Given the description of an element on the screen output the (x, y) to click on. 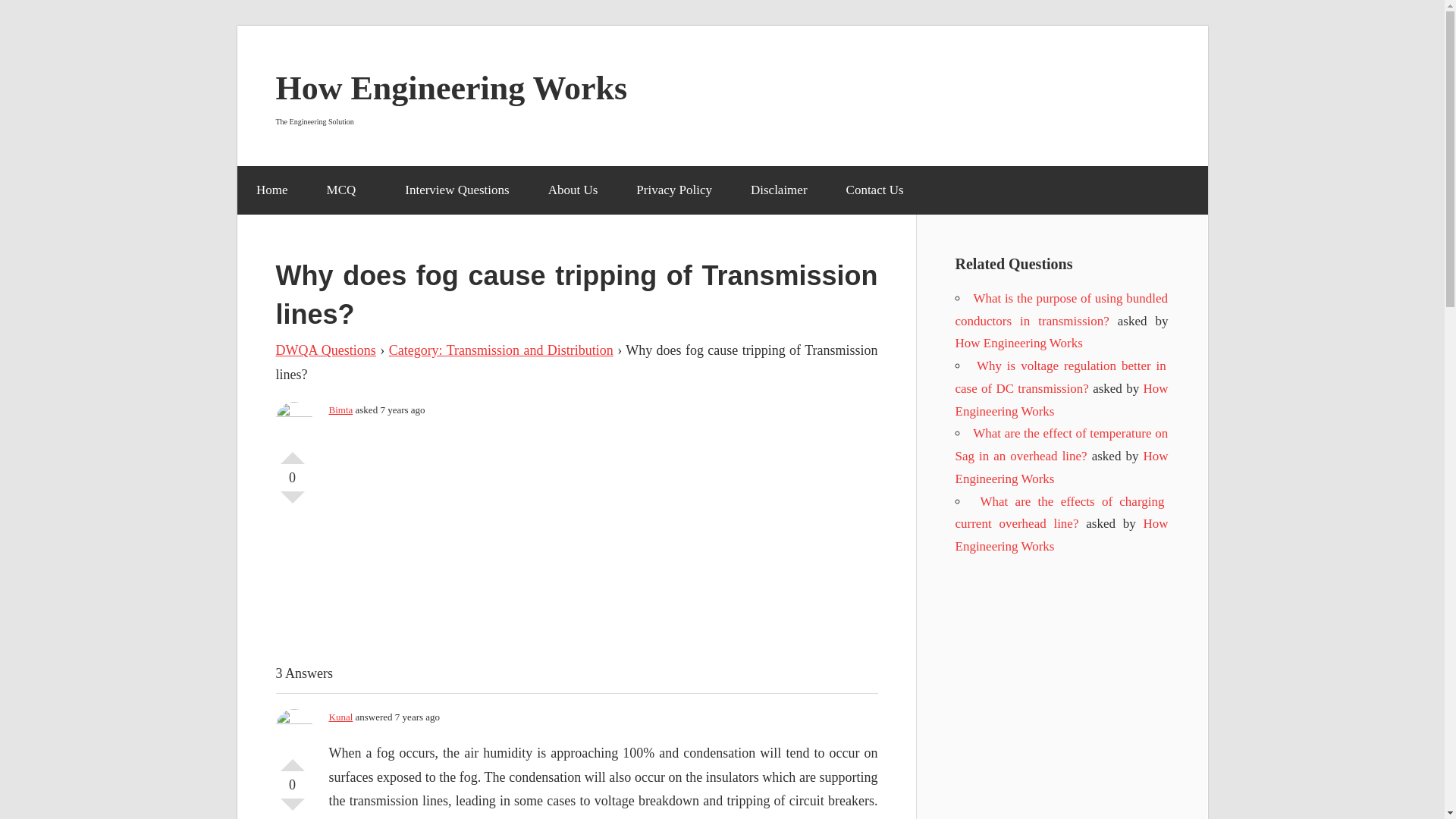
How Engineering Works (1062, 534)
MCQ (346, 190)
Vote Up (292, 758)
How Engineering Works (1062, 467)
How Engineering Works (451, 88)
Privacy Policy (674, 190)
What are the effects of charging current overhead line? (1059, 512)
Disclaimer (778, 190)
Interview Questions (456, 190)
Category: Transmission and Distribution (500, 350)
Vote Up (292, 451)
Advertisement (634, 540)
About Us (572, 190)
